Given the description of an element on the screen output the (x, y) to click on. 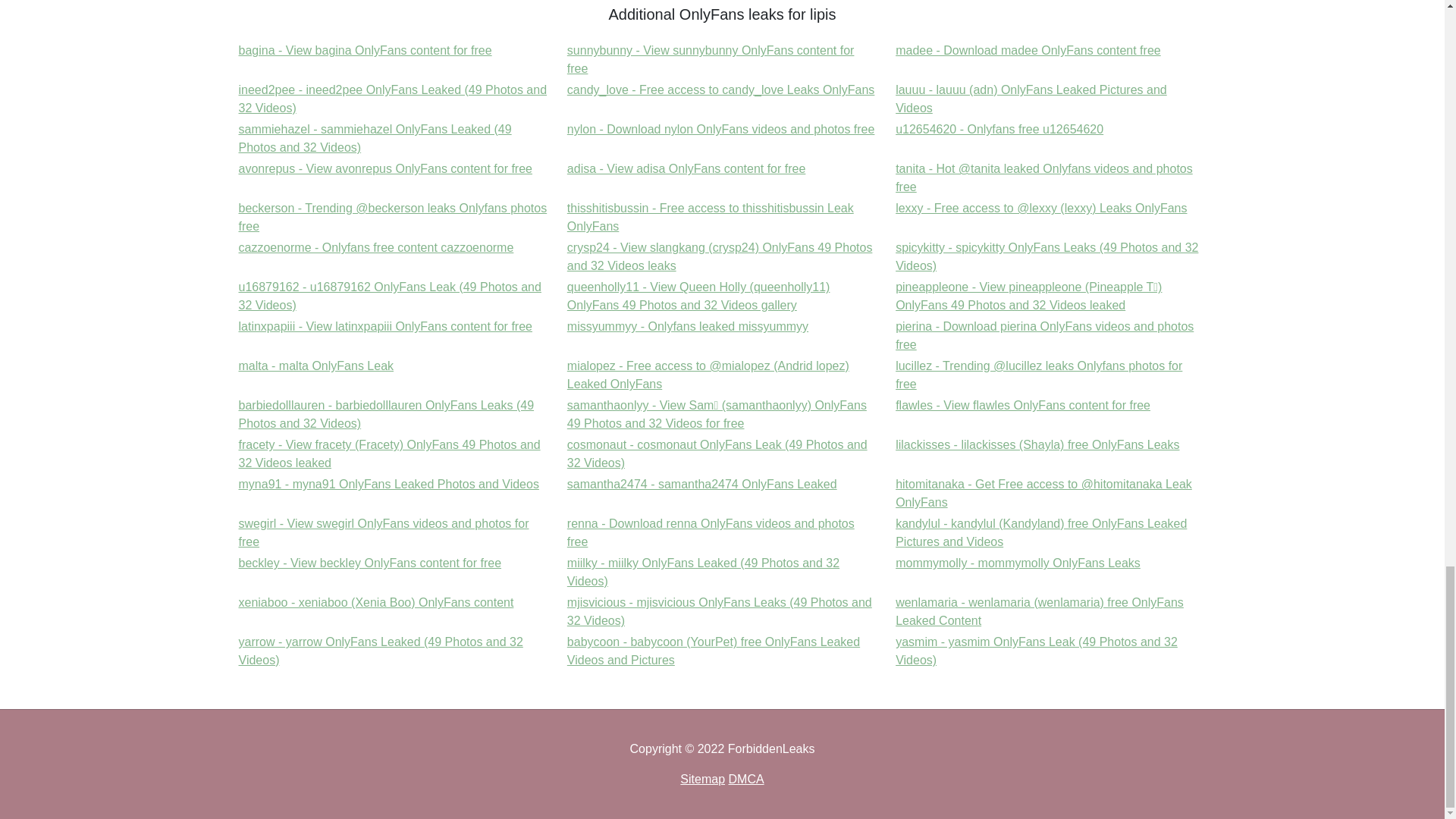
adisa - View adisa OnlyFans content for free (686, 168)
sunnybunny - View sunnybunny OnlyFans content for free (721, 128)
bagina - View bagina OnlyFans content for free (1027, 50)
